Given the description of an element on the screen output the (x, y) to click on. 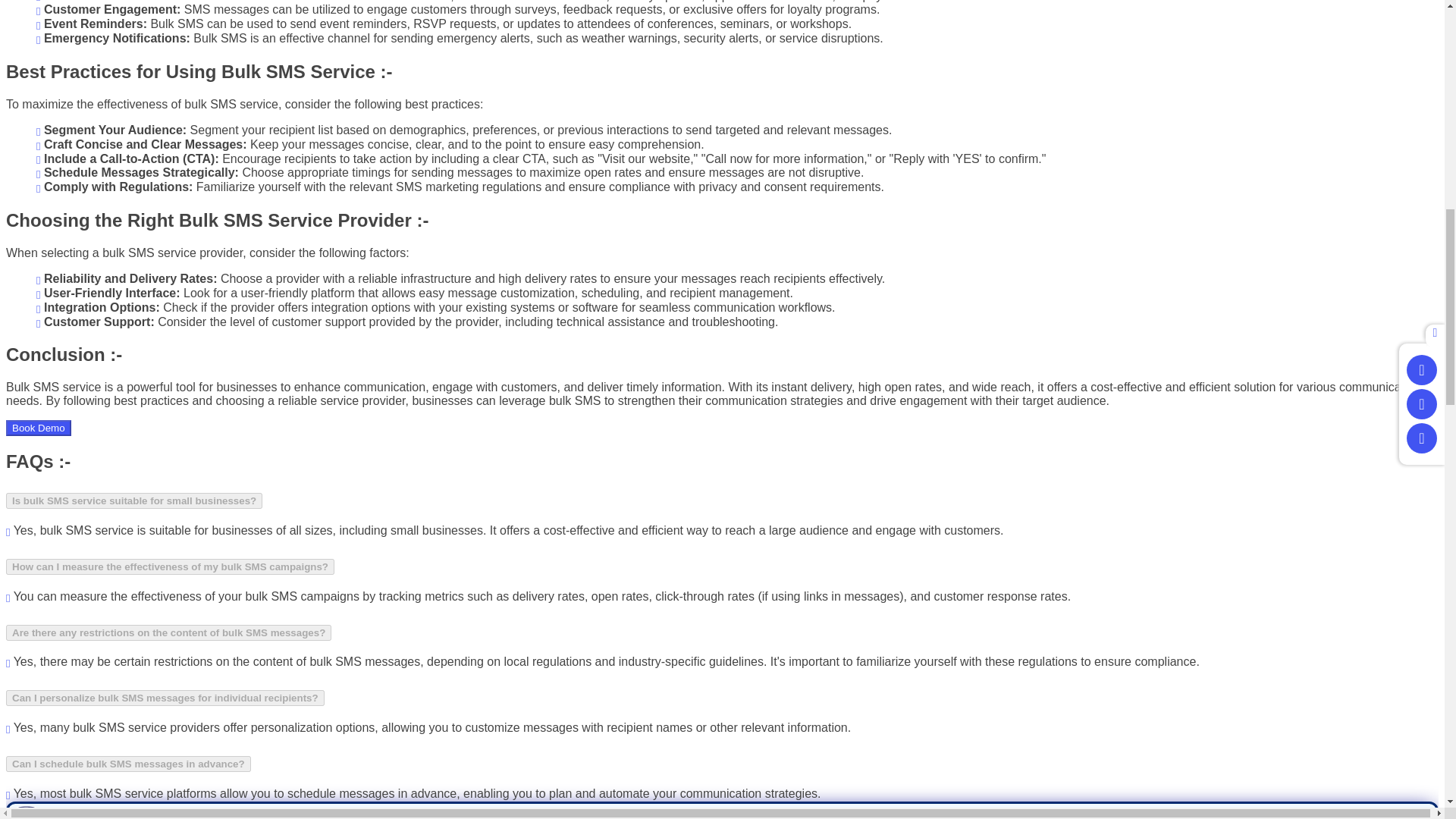
Book Demo (38, 427)
Can I schedule bulk SMS messages in advance? (127, 763)
Is bulk SMS service suitable for small businesses? (133, 500)
